Given the description of an element on the screen output the (x, y) to click on. 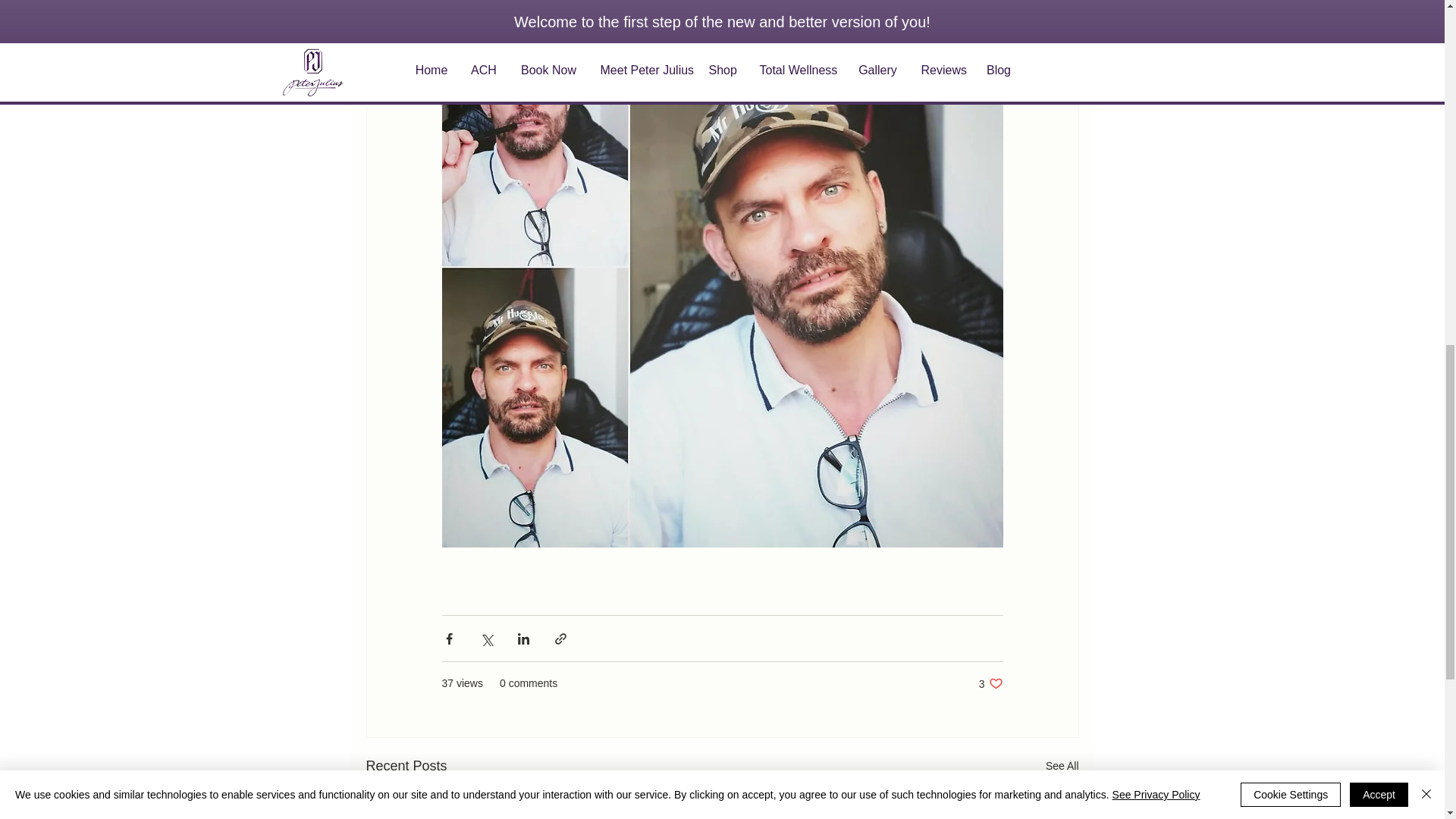
See All (990, 683)
